Given the description of an element on the screen output the (x, y) to click on. 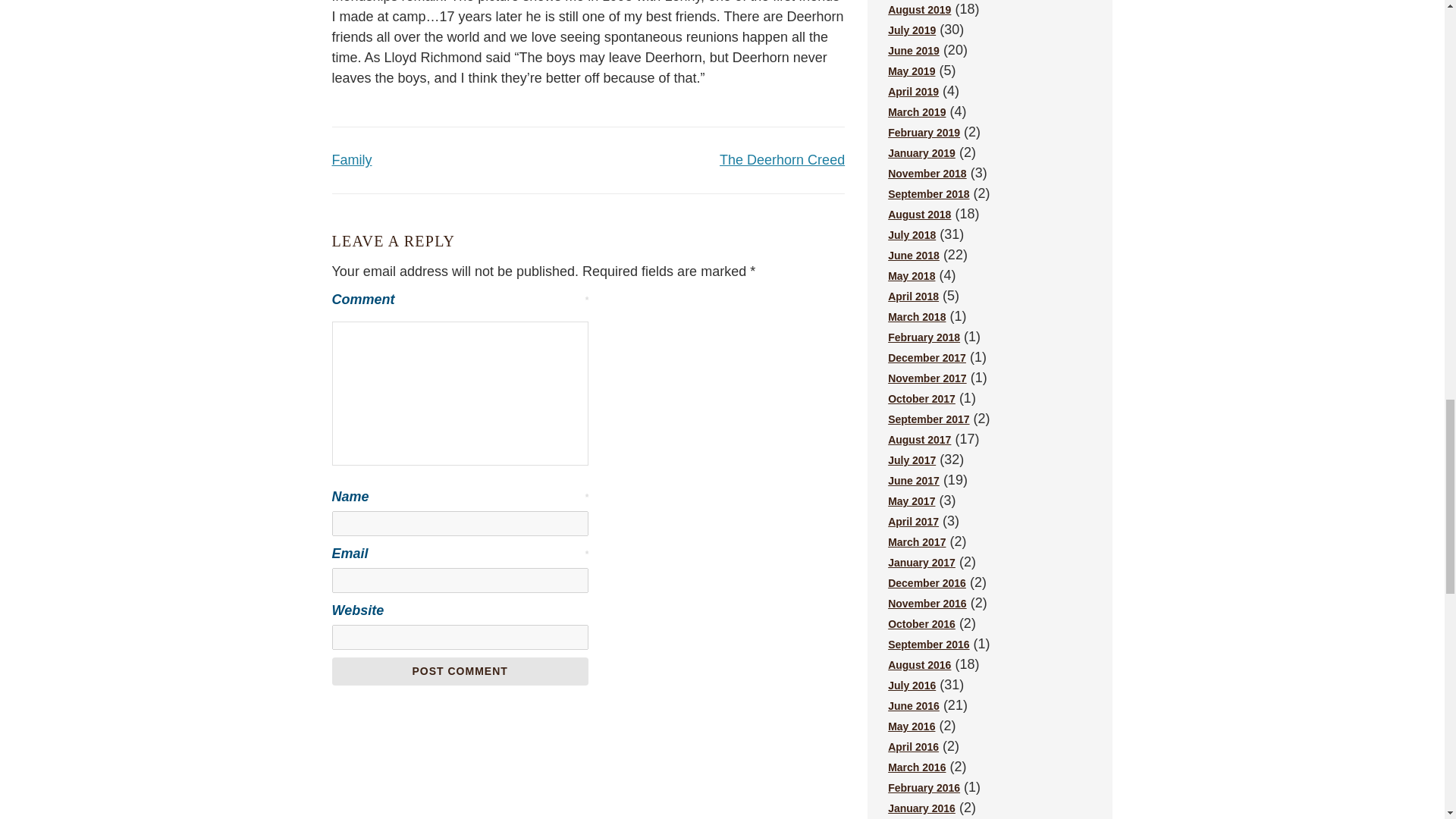
Post Comment (459, 671)
